Given the description of an element on the screen output the (x, y) to click on. 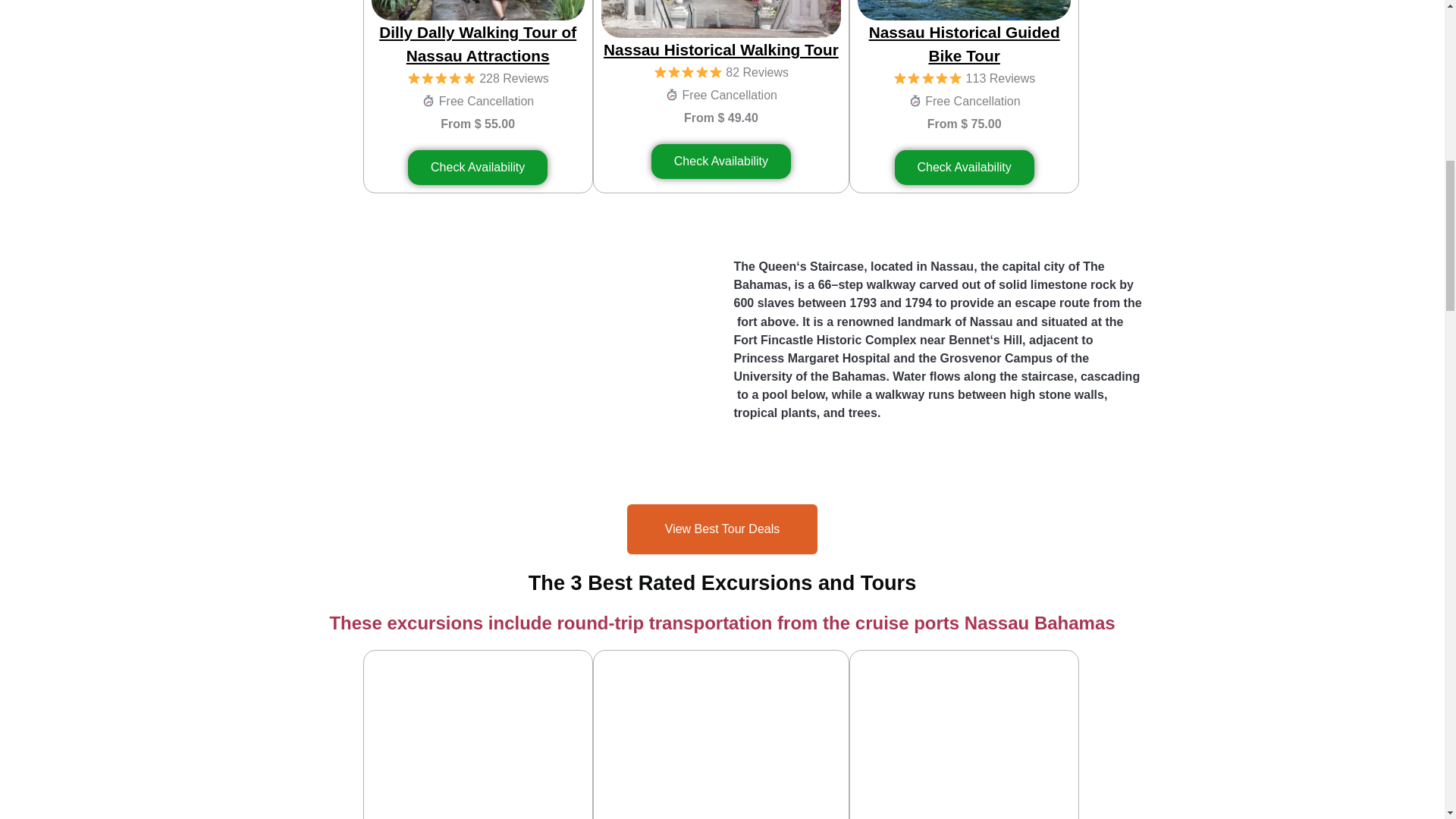
Check Availability (720, 161)
Nassau Historical Walking Tour (721, 49)
View Best Tour Deals (721, 529)
Check Availability (964, 167)
Check Availability (477, 167)
Nassau Historical Guided Bike Tour (964, 43)
Dilly Dally Walking Tour of Nassau Attractions (477, 43)
